Given the description of an element on the screen output the (x, y) to click on. 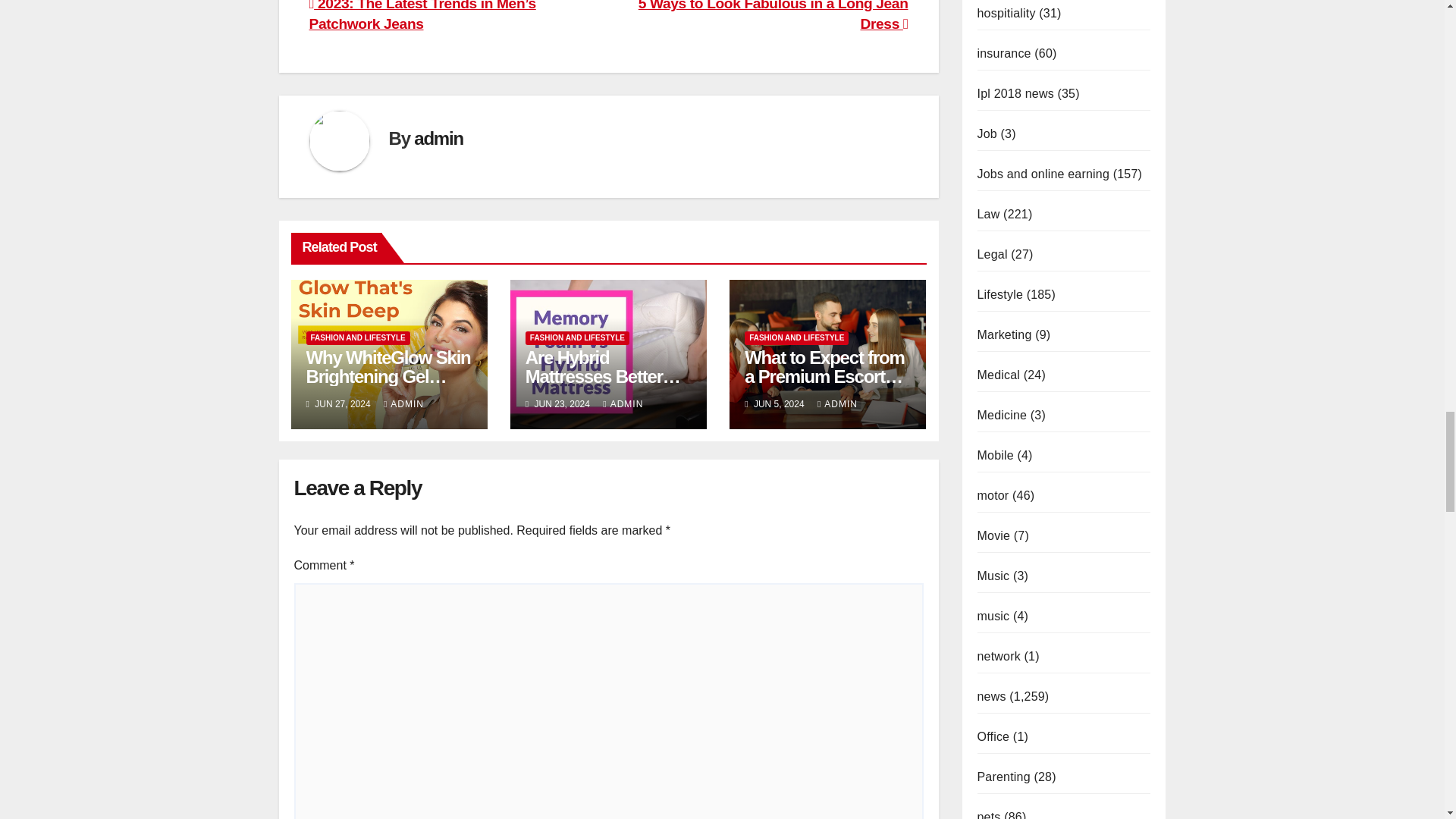
Are Hybrid Mattresses Better Than Foam (603, 376)
5 Ways to Look Fabulous in a Long Jean Dress (773, 15)
FASHION AND LIFESTYLE (576, 337)
Permalink to: Are Hybrid Mattresses Better Than Foam (603, 376)
ADMIN (403, 403)
Permalink to: What to Expect from a Premium Escort Agency? (824, 376)
FASHION AND LIFESTYLE (357, 337)
admin (438, 137)
